Given the description of an element on the screen output the (x, y) to click on. 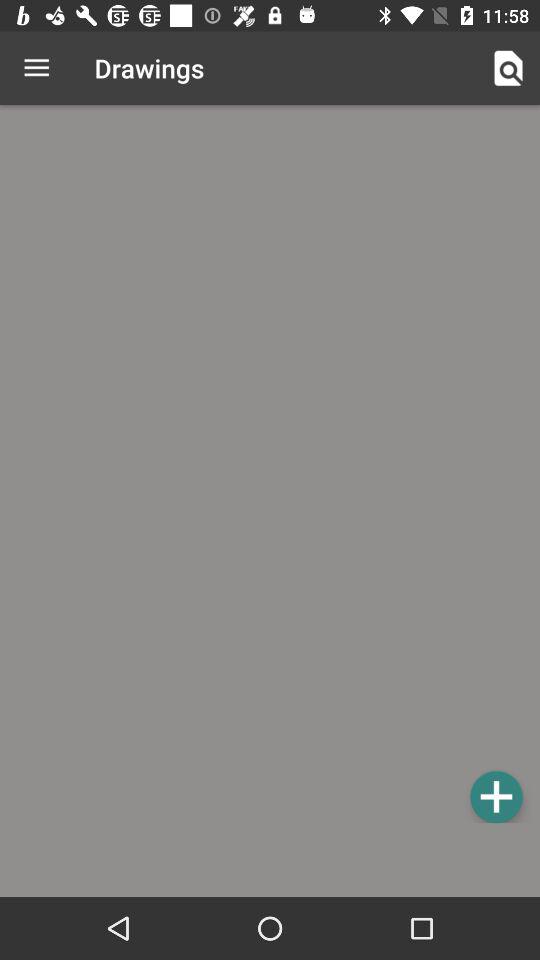
add a new agenda (269, 467)
